Given the description of an element on the screen output the (x, y) to click on. 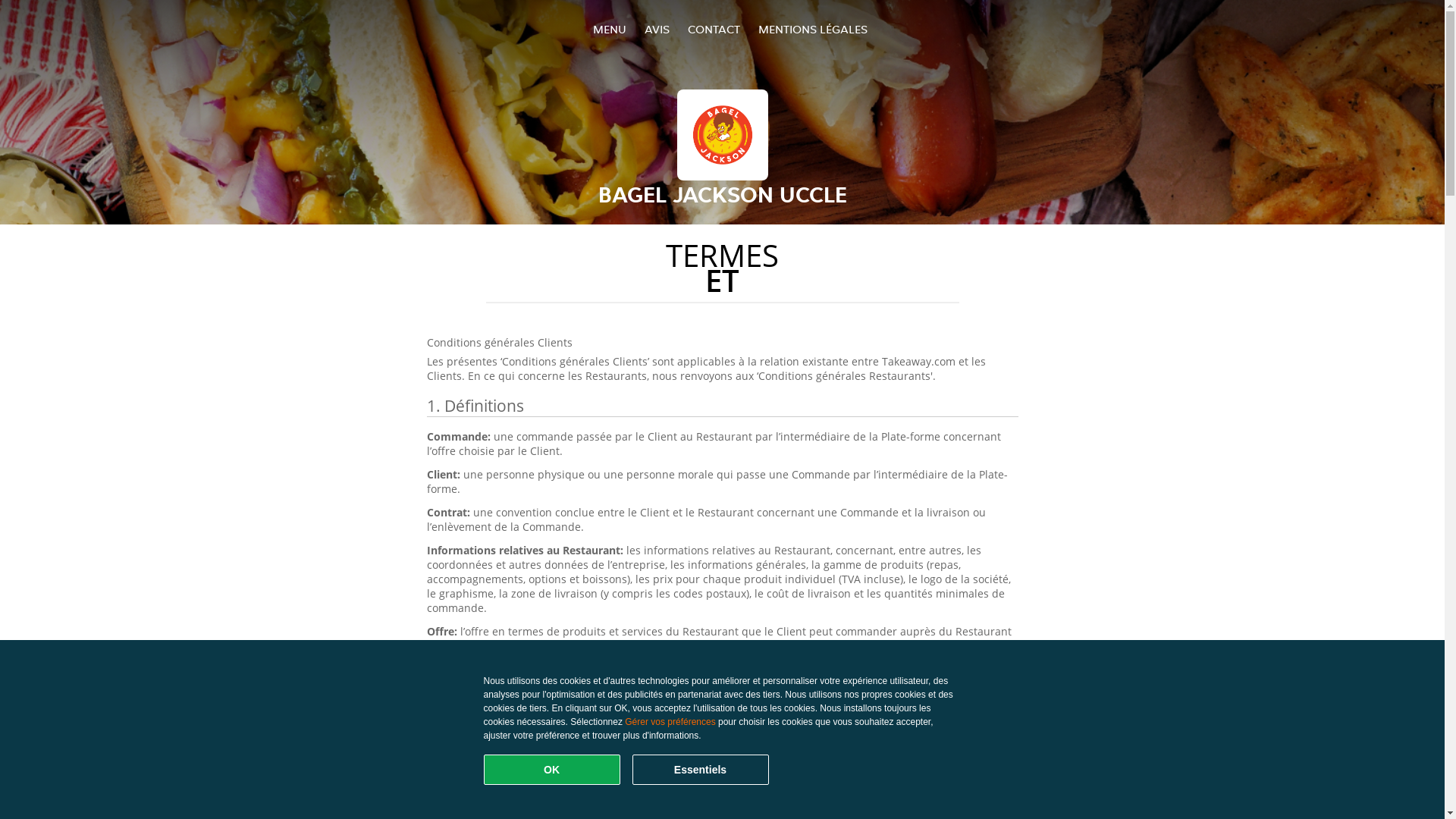
OK Element type: text (551, 769)
MENU Element type: text (609, 29)
Essentiels Element type: text (700, 769)
AVIS Element type: text (656, 29)
CONTACT Element type: text (713, 29)
